Given the description of an element on the screen output the (x, y) to click on. 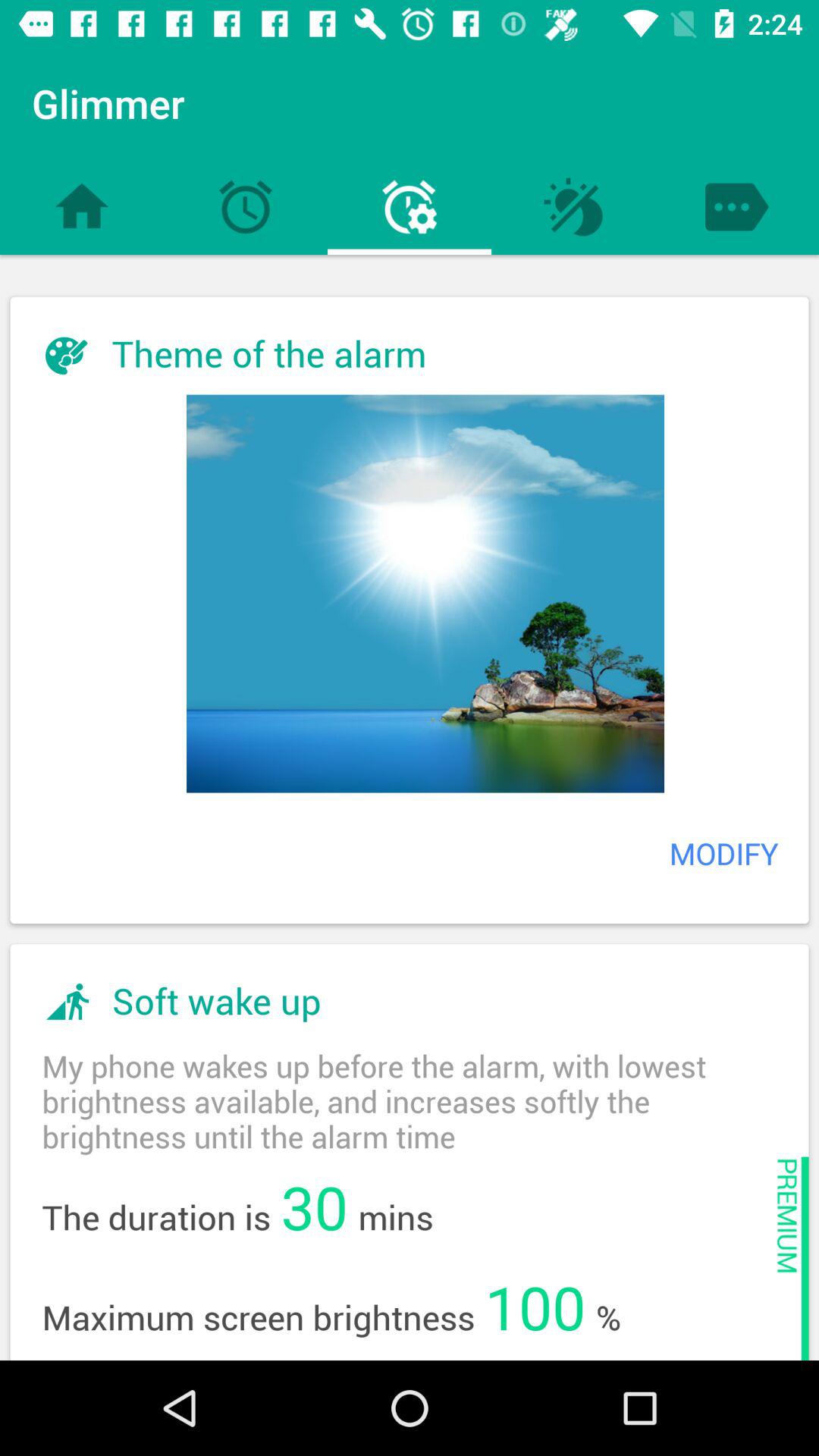
select theme (425, 593)
